Given the description of an element on the screen output the (x, y) to click on. 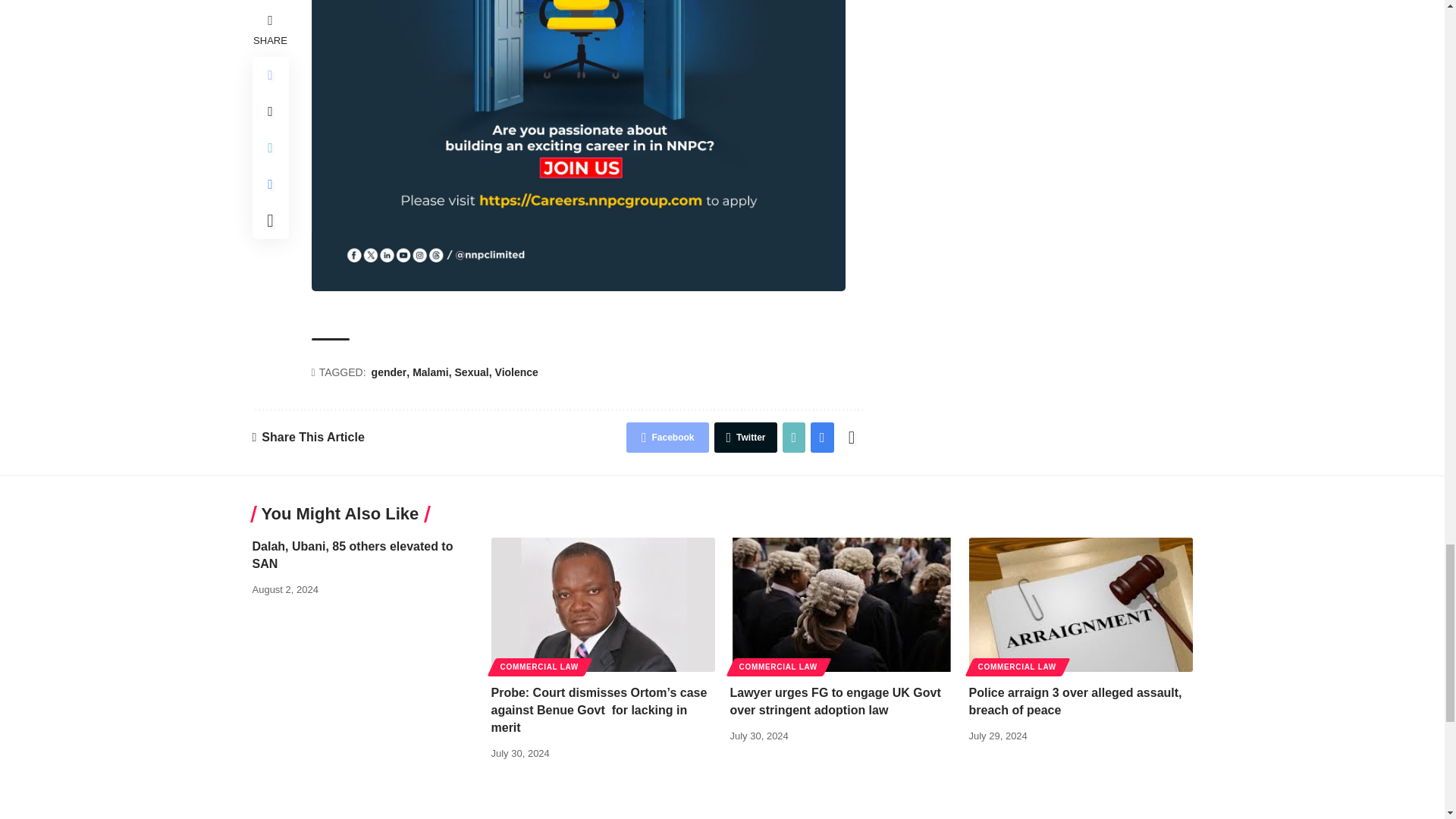
Twitter (745, 437)
Facebook (668, 437)
Malami (431, 372)
Sexual (473, 372)
gender (390, 372)
Violence (516, 372)
Police arraign 3 over alleged assault, breach of peace (1080, 604)
